Given the description of an element on the screen output the (x, y) to click on. 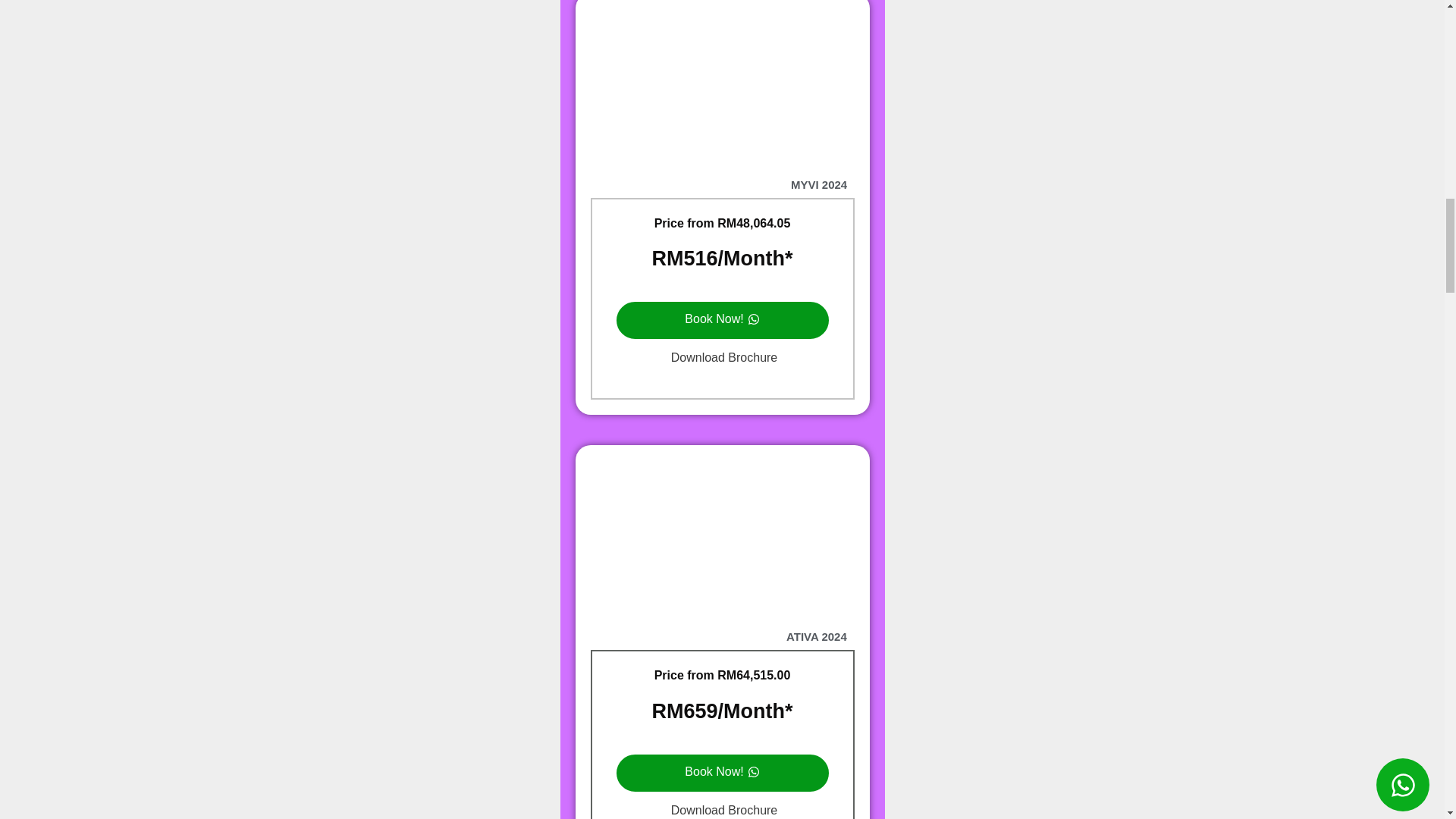
Download Brochure (721, 357)
Book Now! (721, 320)
Download Brochure (721, 806)
Book Now! (721, 772)
